Given the description of an element on the screen output the (x, y) to click on. 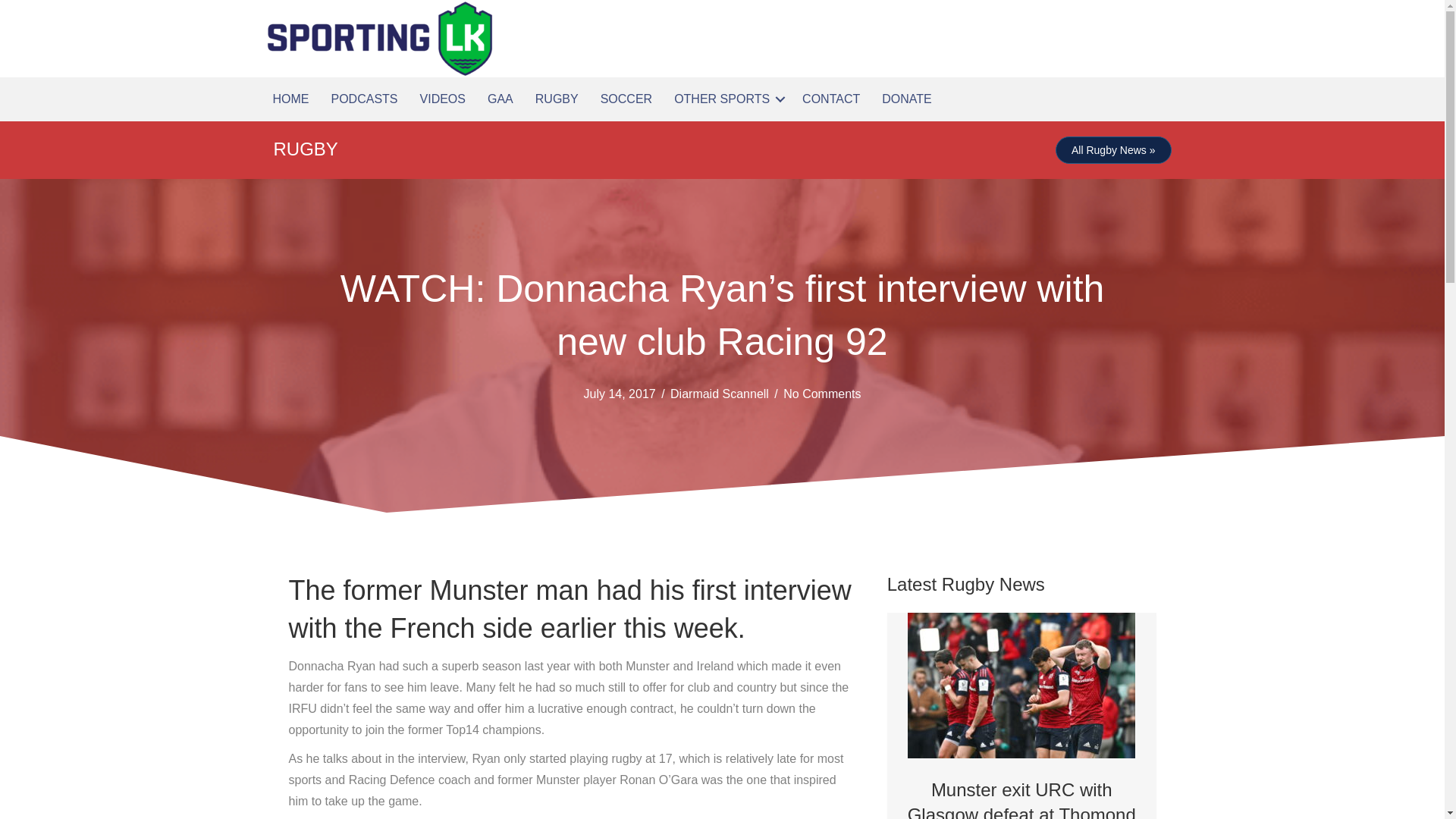
PODCASTS (363, 98)
HOME (291, 98)
VIDEOS (442, 98)
RUGBY (305, 148)
